Given the description of an element on the screen output the (x, y) to click on. 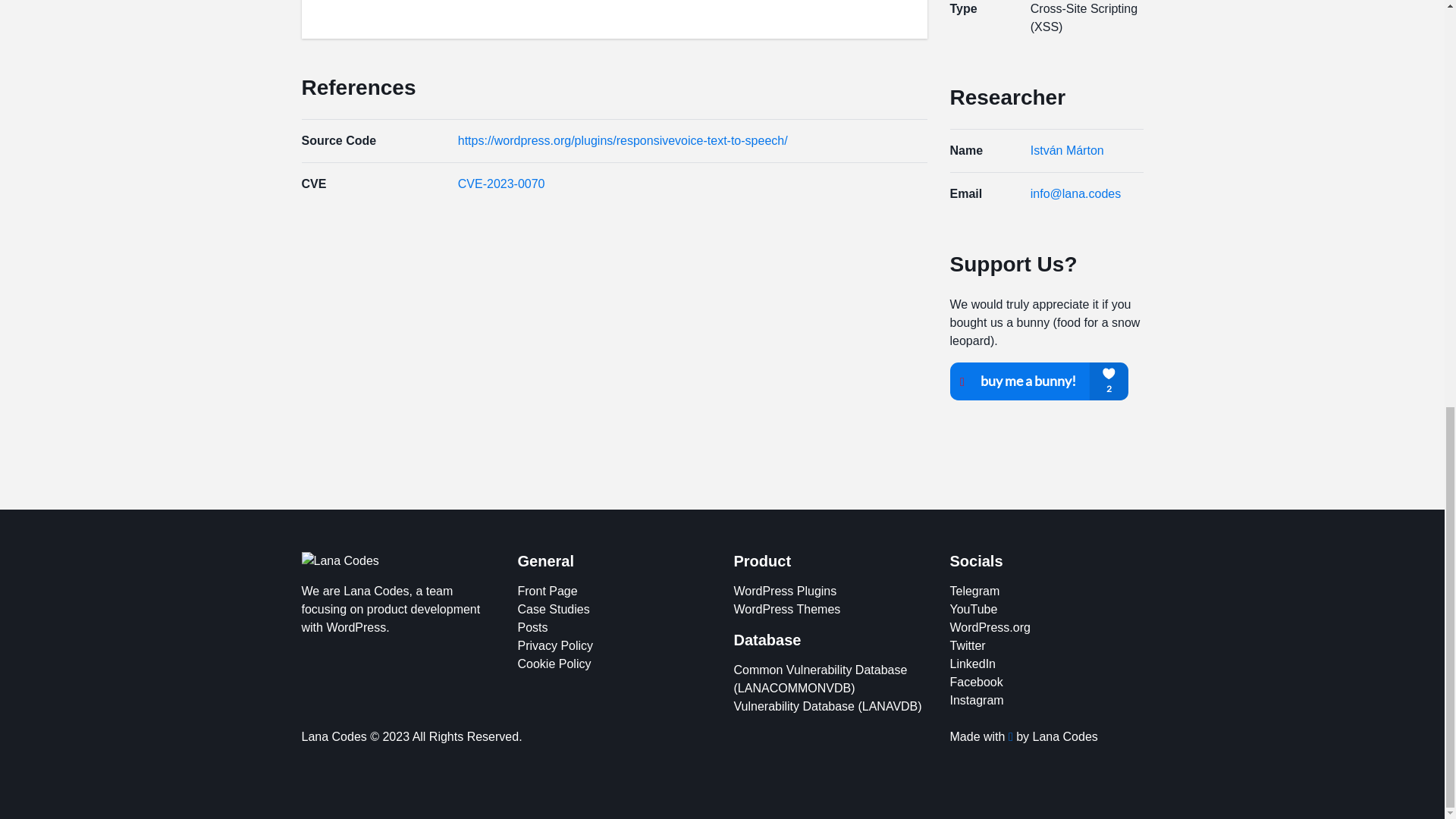
Posts (531, 626)
CVE-2023-0070 (501, 183)
Case Studies (552, 608)
Front Page (546, 590)
Lana Codes (339, 561)
